Given the description of an element on the screen output the (x, y) to click on. 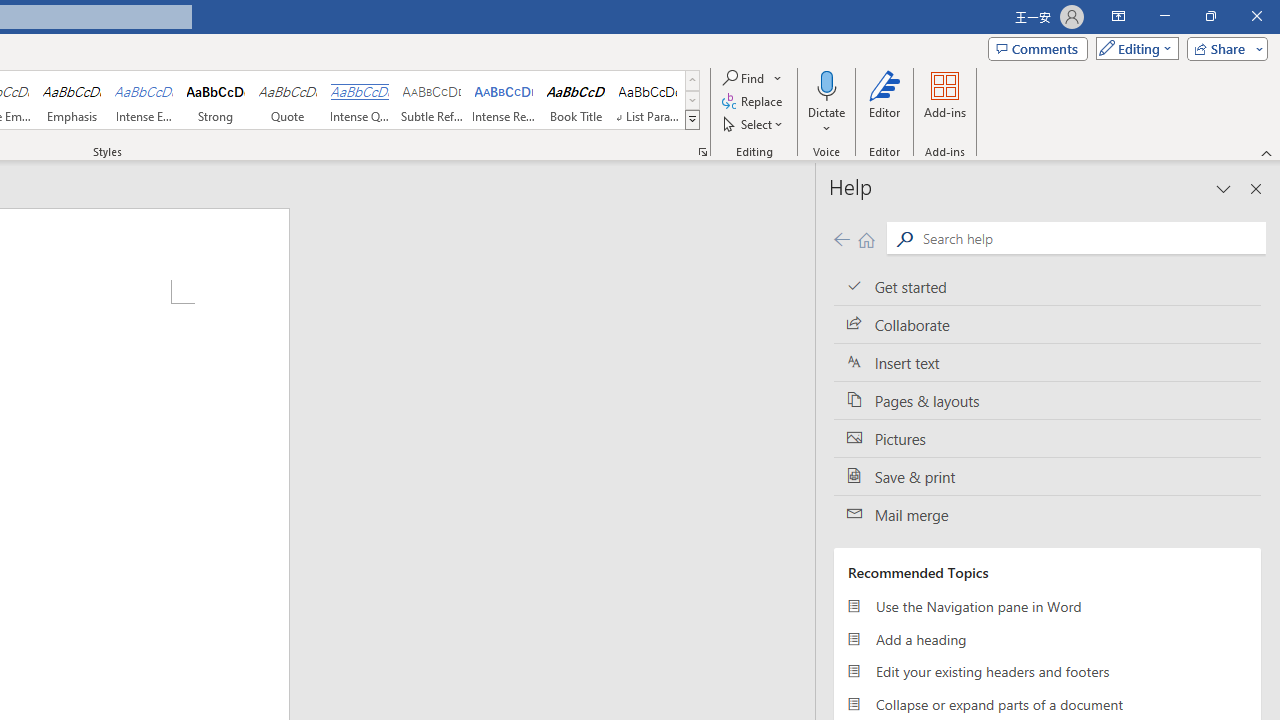
Edit your existing headers and footers (1047, 672)
Intense Emphasis (143, 100)
Save & print (1047, 476)
Emphasis (71, 100)
Insert text (1047, 363)
Quote (287, 100)
